Given the description of an element on the screen output the (x, y) to click on. 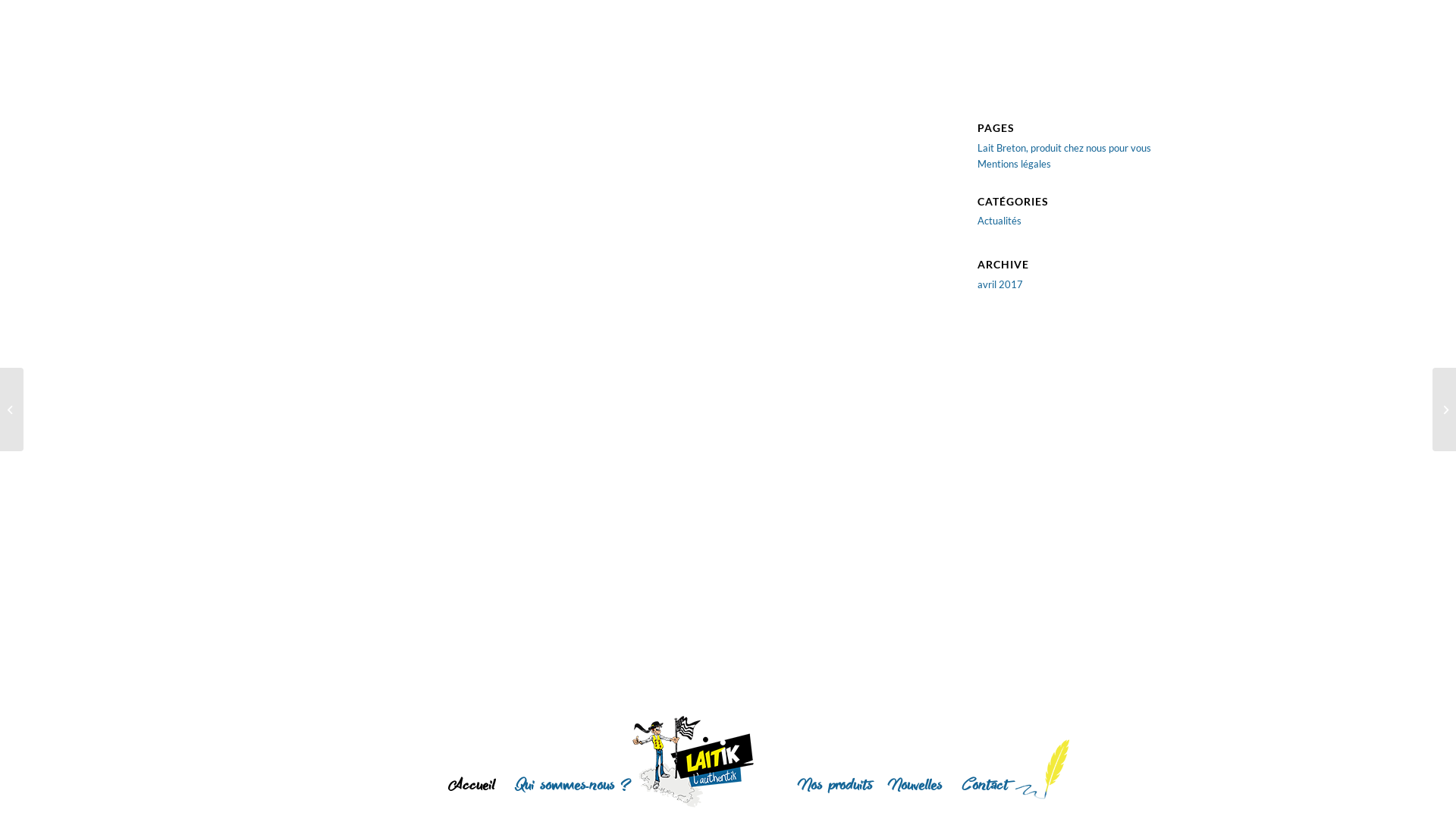
Qui sommes-nous ? Element type: text (572, 787)
Lait Breton, produit chez nous pour vous Element type: text (1064, 147)
Contact Element type: text (984, 787)
Accueil Element type: text (471, 787)
avril 2017 Element type: text (999, 284)
logo-laitik Element type: hover (693, 760)
Nouvelles Element type: text (916, 787)
Nos produits Element type: text (836, 787)
